Given the description of an element on the screen output the (x, y) to click on. 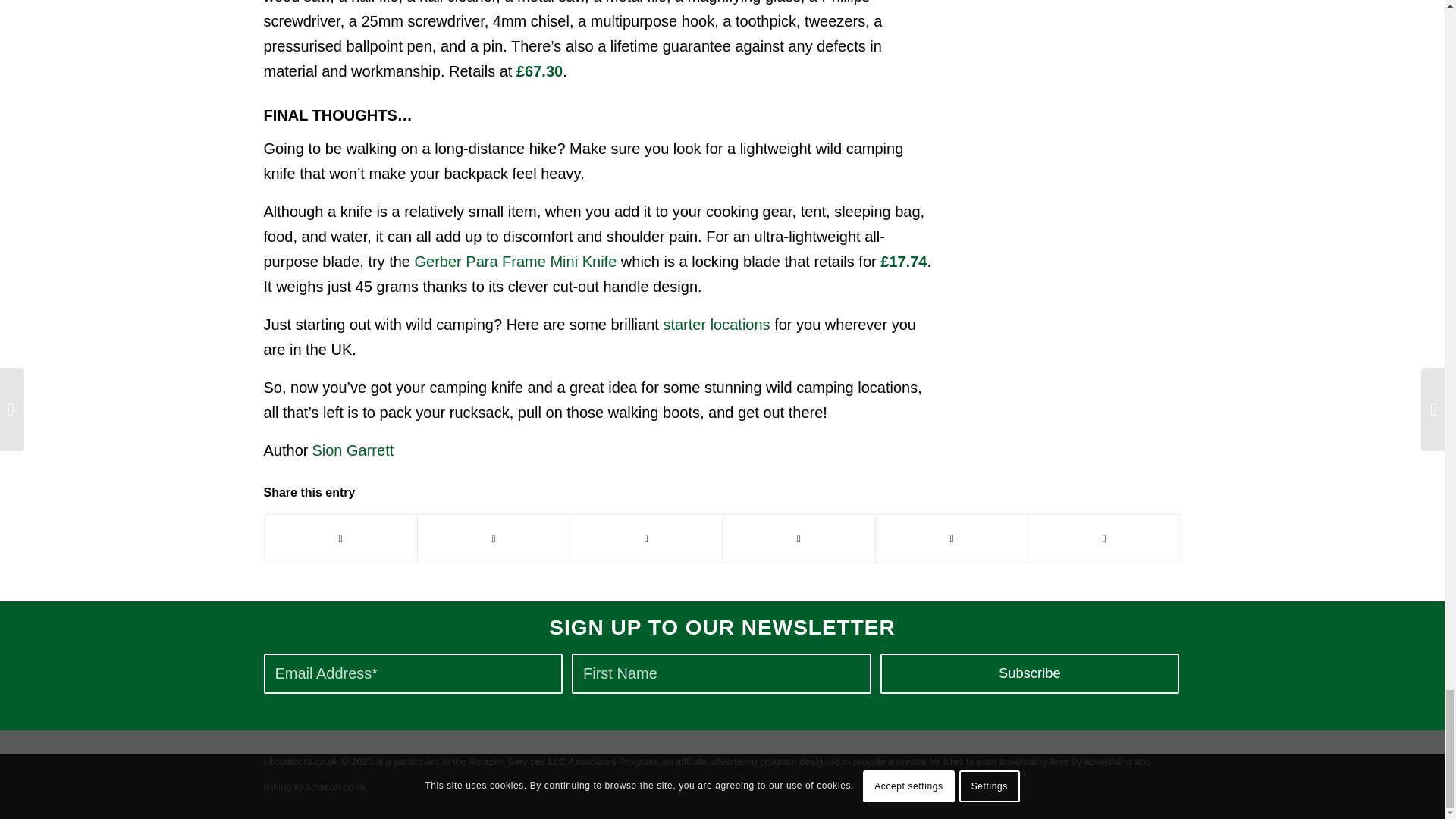
Gerber Para Frame Mini Knife (515, 261)
Sion Garrett (352, 450)
starter locations (716, 324)
Subscribe (1029, 673)
